Given the description of an element on the screen output the (x, y) to click on. 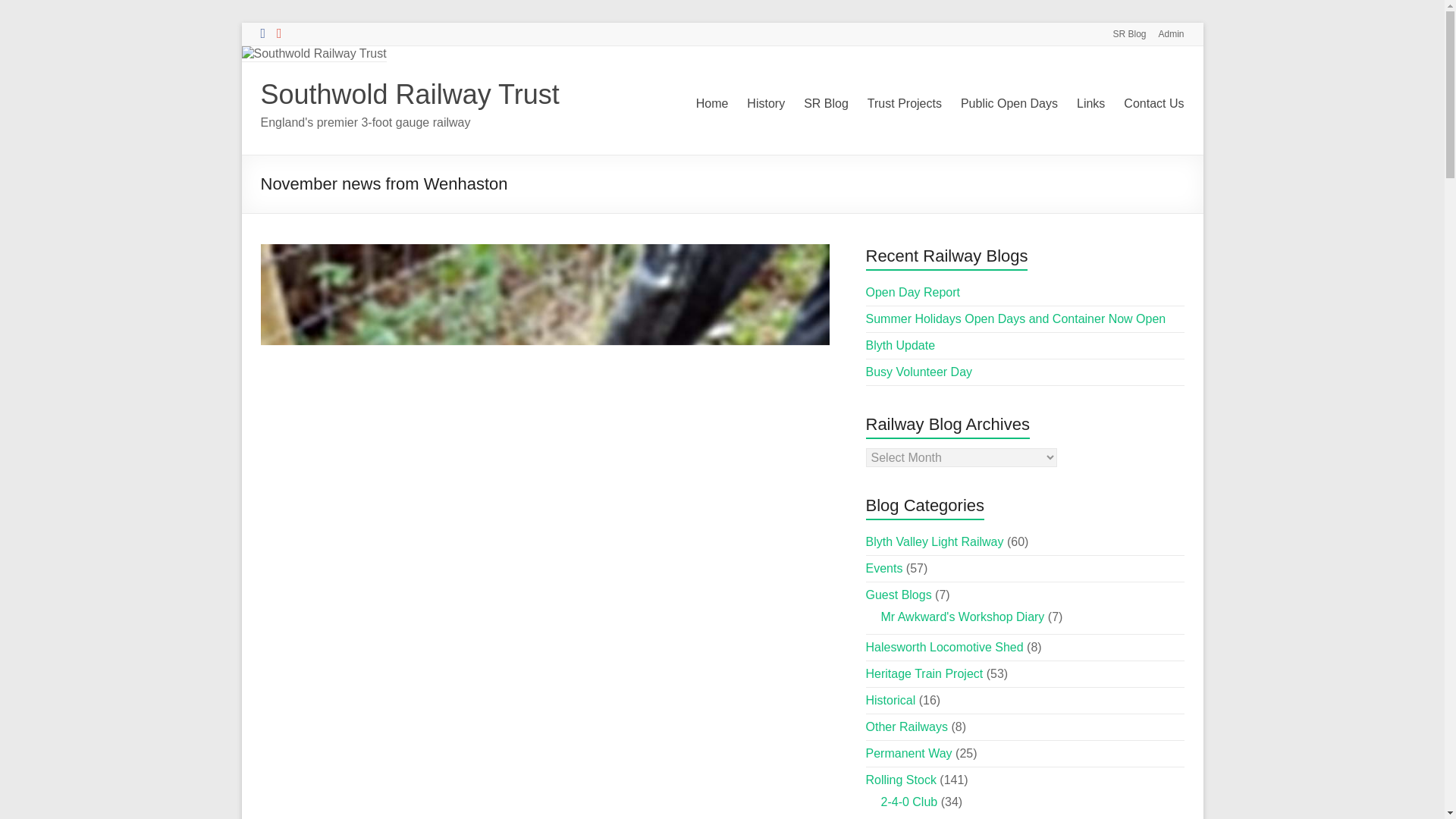
Trust Projects (904, 103)
Summer Holidays Open Days and Container Now Open (1016, 318)
Busy Volunteer Day (919, 371)
Historical (890, 699)
Southwold Railway Trust (409, 93)
History (765, 103)
Blyth Valley Light Railway (935, 541)
Home (712, 103)
Heritage Train Project (925, 673)
Open Day Report (913, 291)
